Given the description of an element on the screen output the (x, y) to click on. 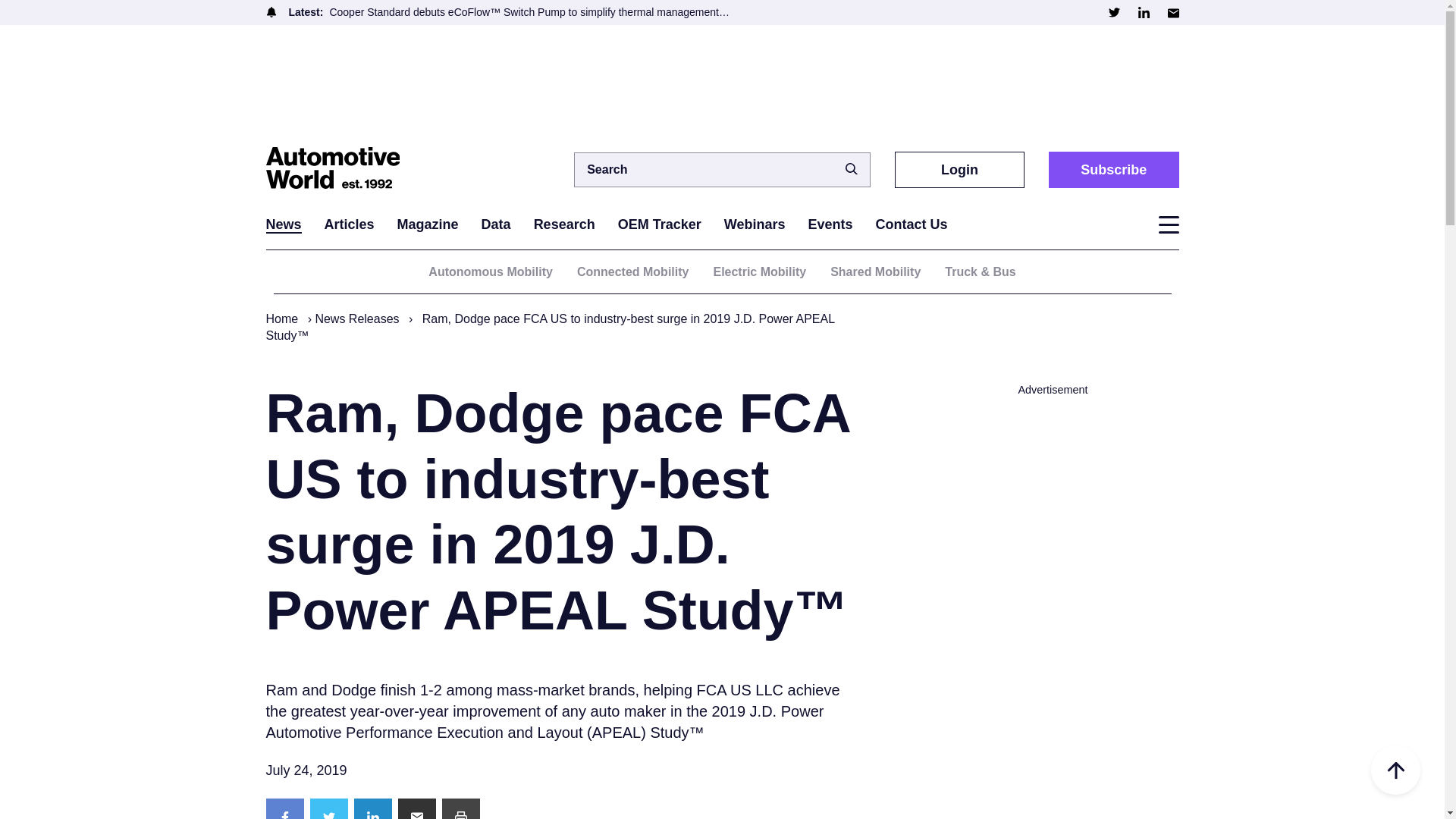
News (282, 225)
Autonomous Mobility (490, 271)
Login (960, 169)
Twitter (1113, 12)
Linkedin (1142, 12)
Electric Mobility (759, 271)
Data (496, 224)
Subscribe (1112, 169)
3rd party ad content (721, 83)
Log In (936, 439)
Login (960, 169)
Magazine (427, 224)
Articles (349, 224)
Subscribe (1112, 169)
Automotive World (340, 169)
